Given the description of an element on the screen output the (x, y) to click on. 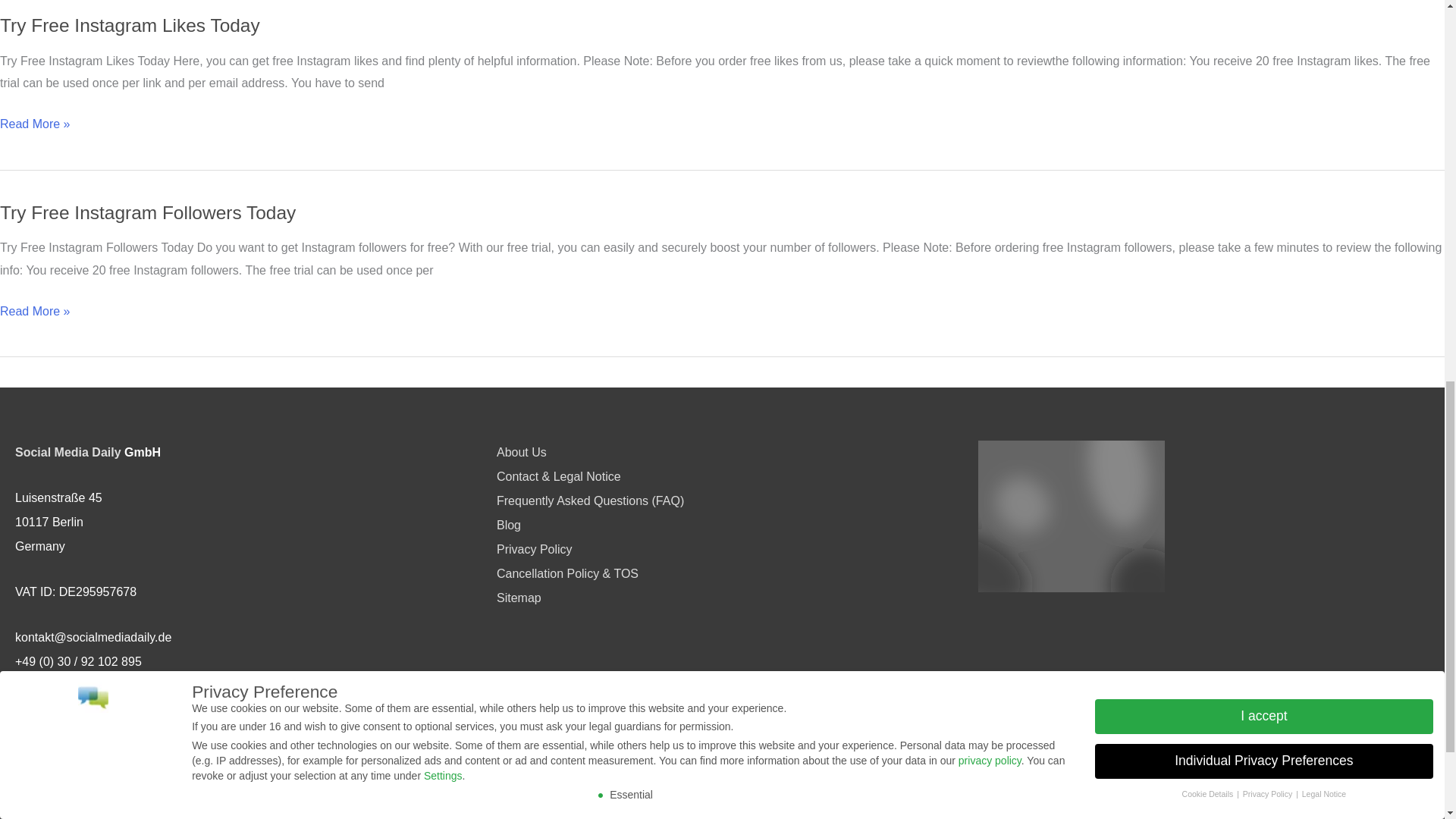
Social Media Daily (67, 451)
Try Free Instagram Followers Today (147, 212)
Try Free Instagram Likes Today (130, 25)
